Given the description of an element on the screen output the (x, y) to click on. 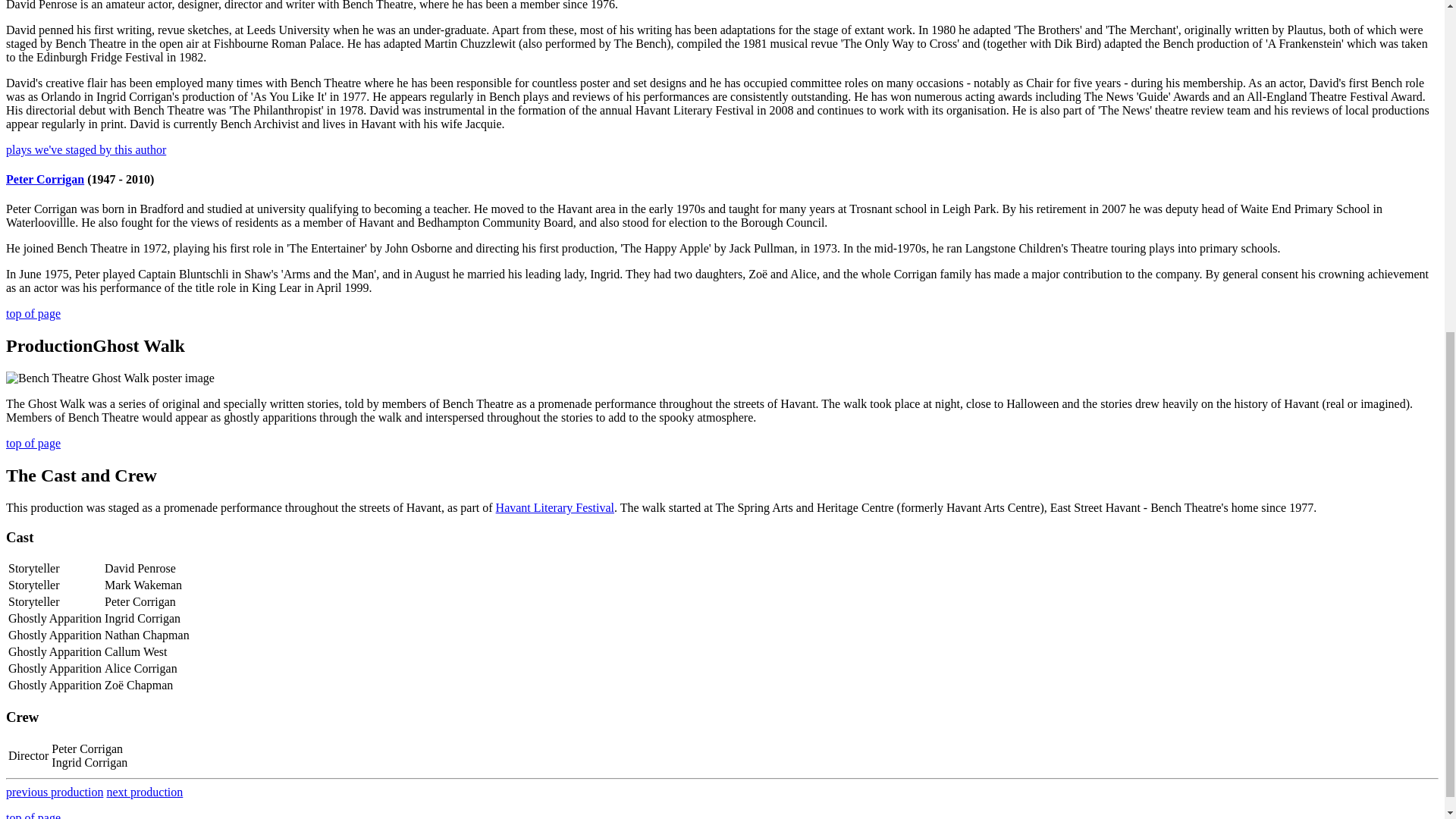
top of page (33, 313)
Havant Literary Festival (555, 507)
previous production (54, 791)
next production (144, 791)
plays we've staged by this author (85, 149)
ProductionGhost Walk (94, 345)
top of page (33, 442)
Peter Corrigan (44, 178)
The Cast and Crew (81, 475)
Cast (19, 537)
